Given the description of an element on the screen output the (x, y) to click on. 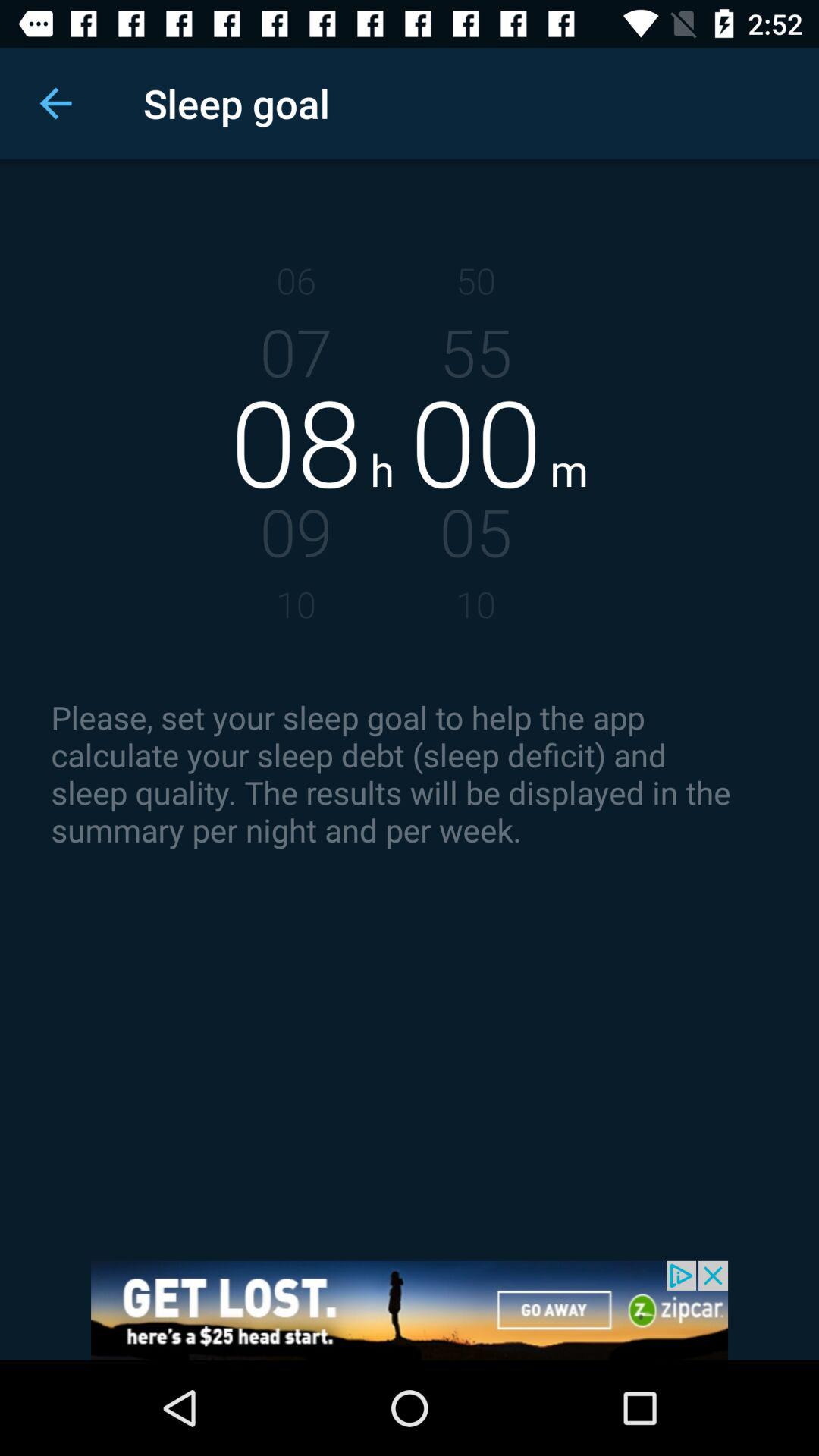
select advertisement (409, 1310)
